Given the description of an element on the screen output the (x, y) to click on. 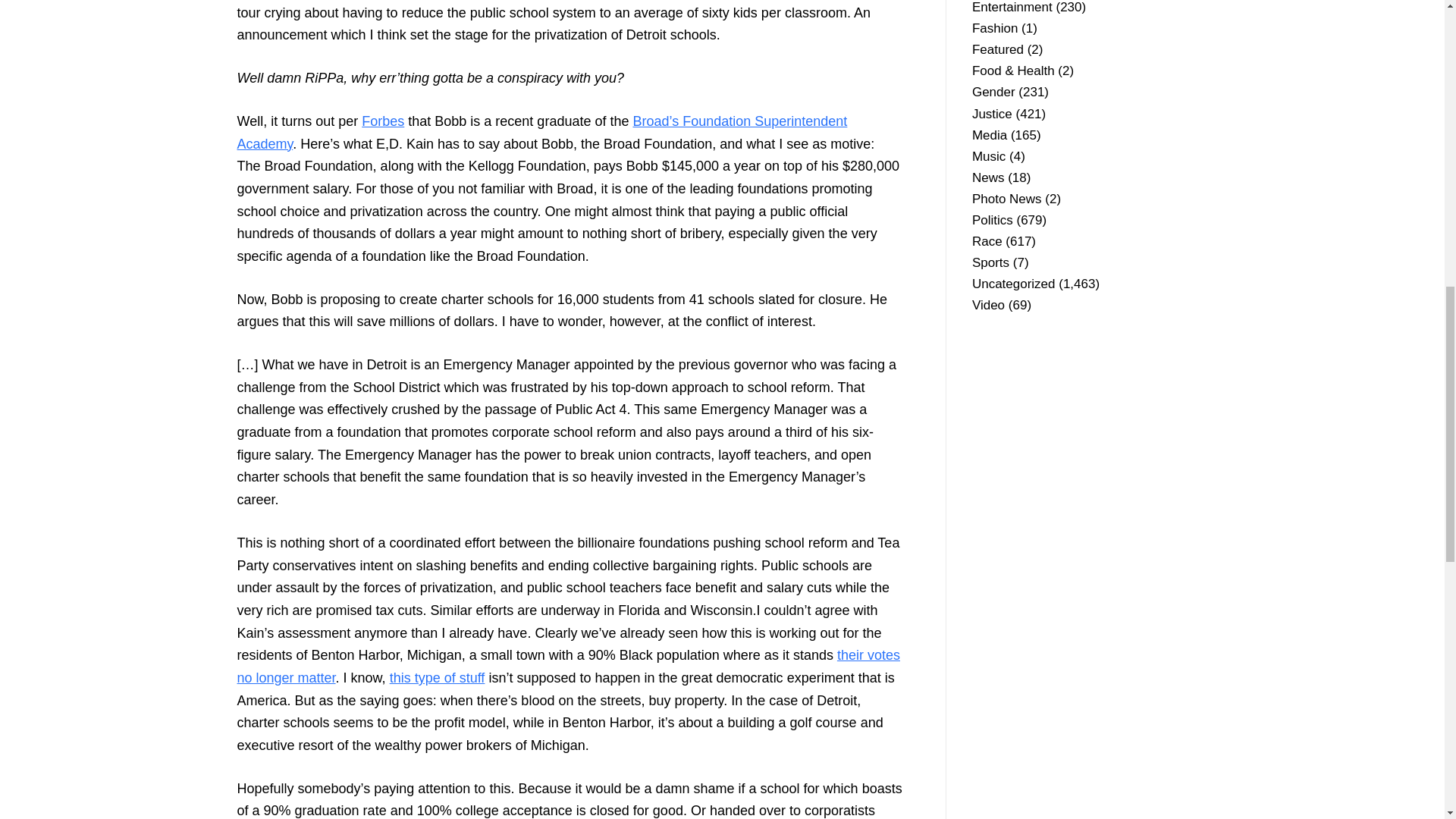
their votes no longer matter (567, 666)
this type of stuff (437, 677)
Forbes (382, 120)
